Given the description of an element on the screen output the (x, y) to click on. 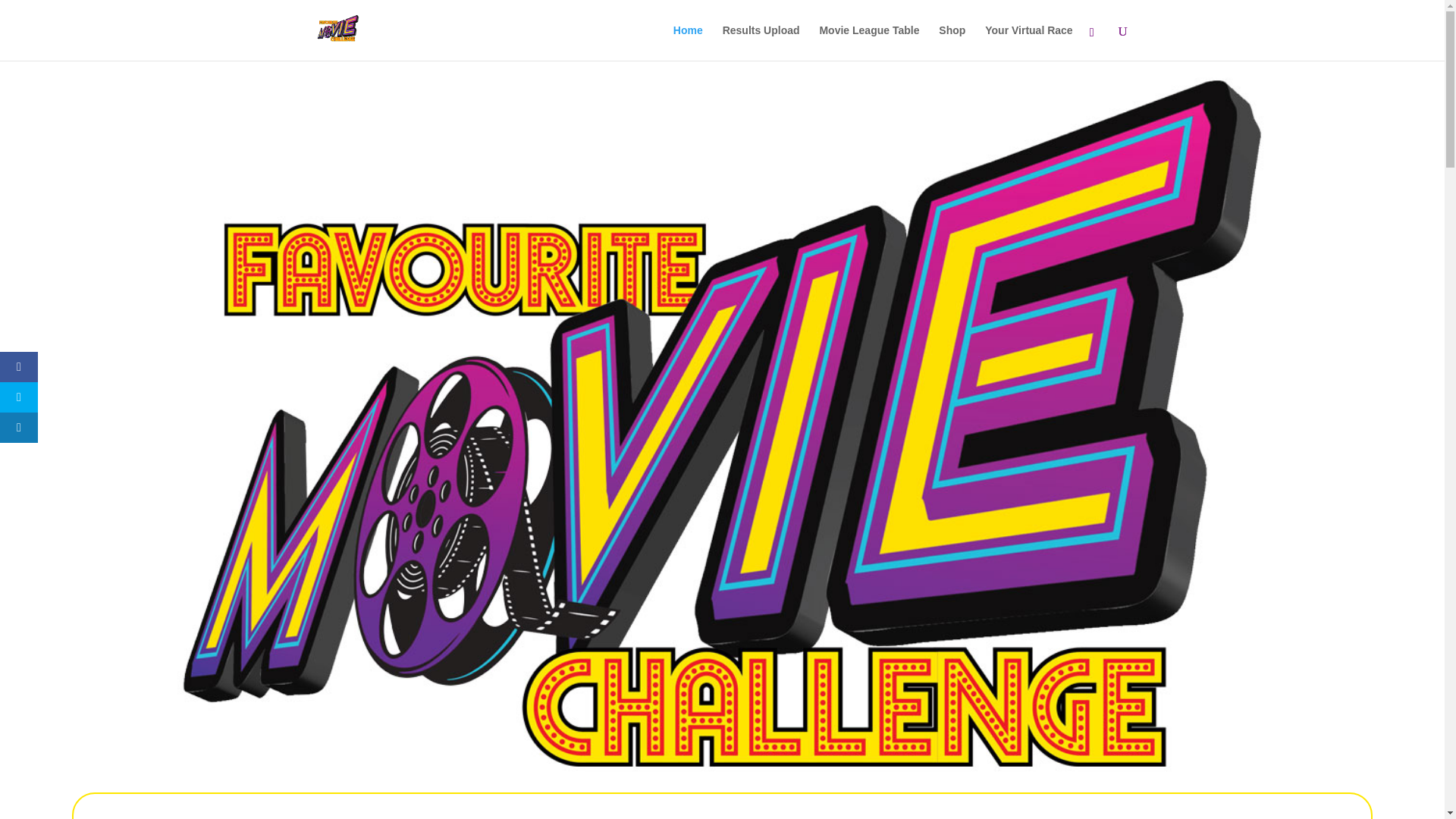
Results Upload (760, 42)
Your Virtual Race (1028, 42)
Movie League Table (868, 42)
